Given the description of an element on the screen output the (x, y) to click on. 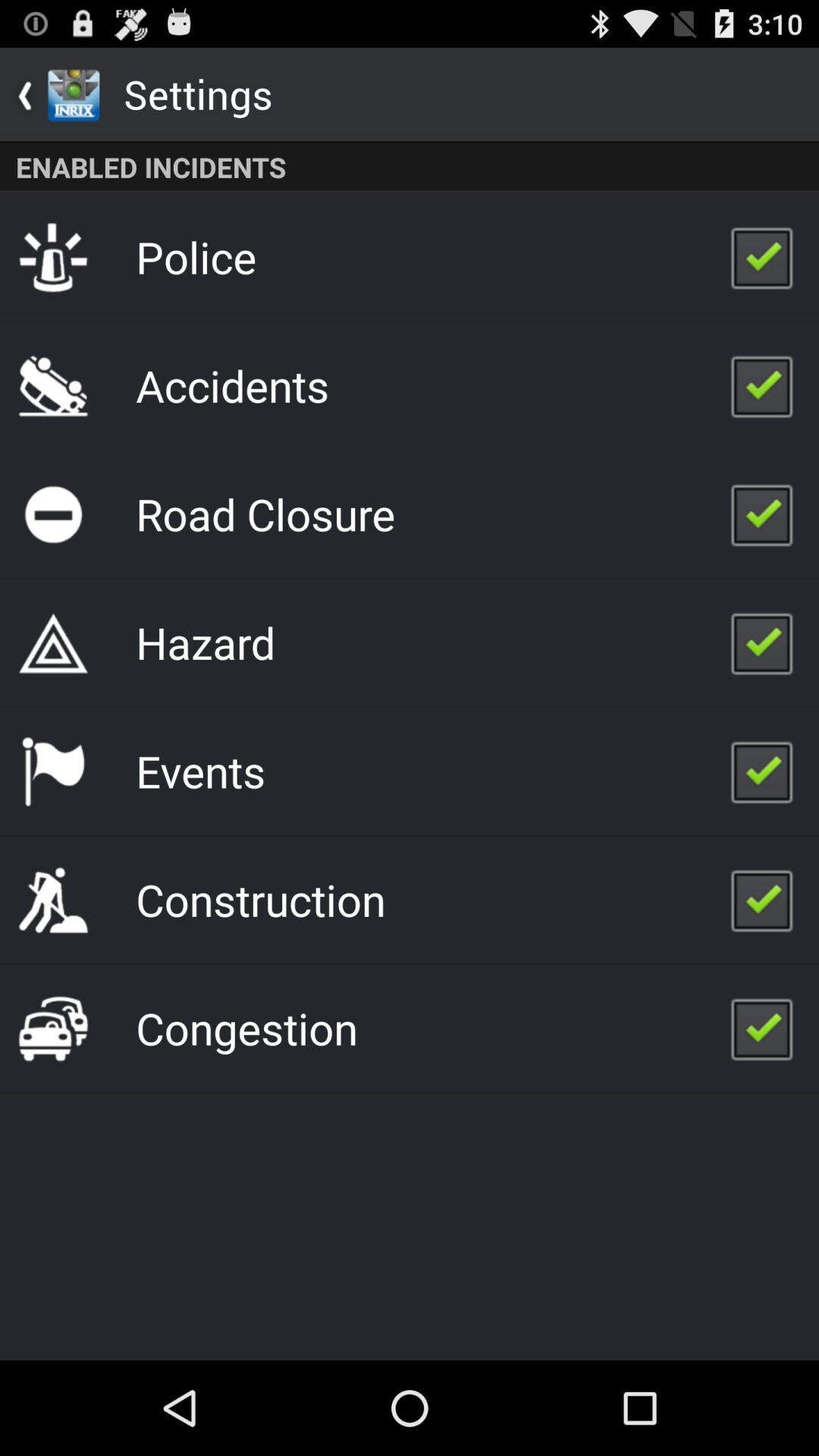
jump until the road closure item (265, 513)
